Given the description of an element on the screen output the (x, y) to click on. 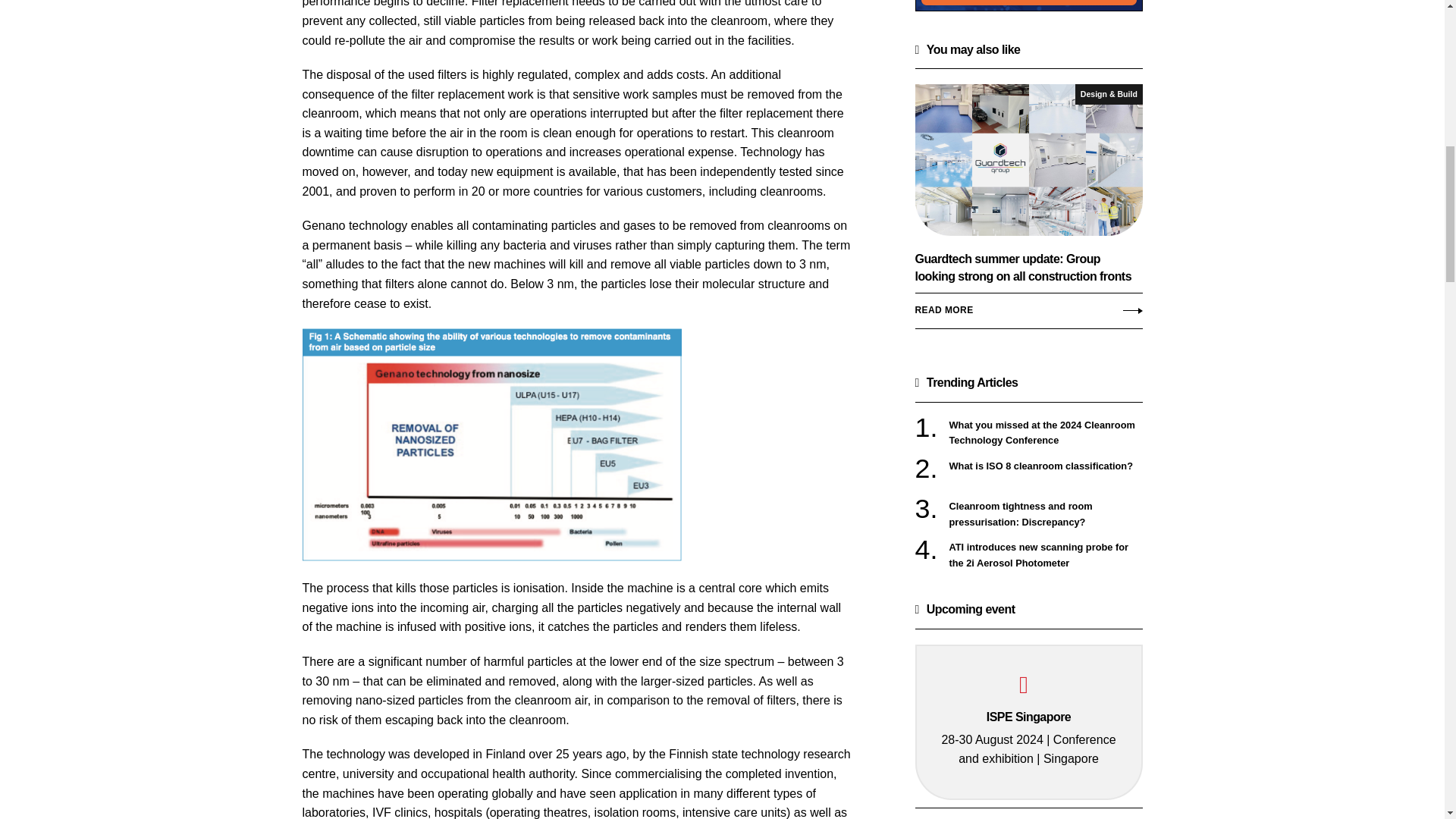
What you missed at the 2024 Cleanroom Technology Conference (1045, 432)
